Given the description of an element on the screen output the (x, y) to click on. 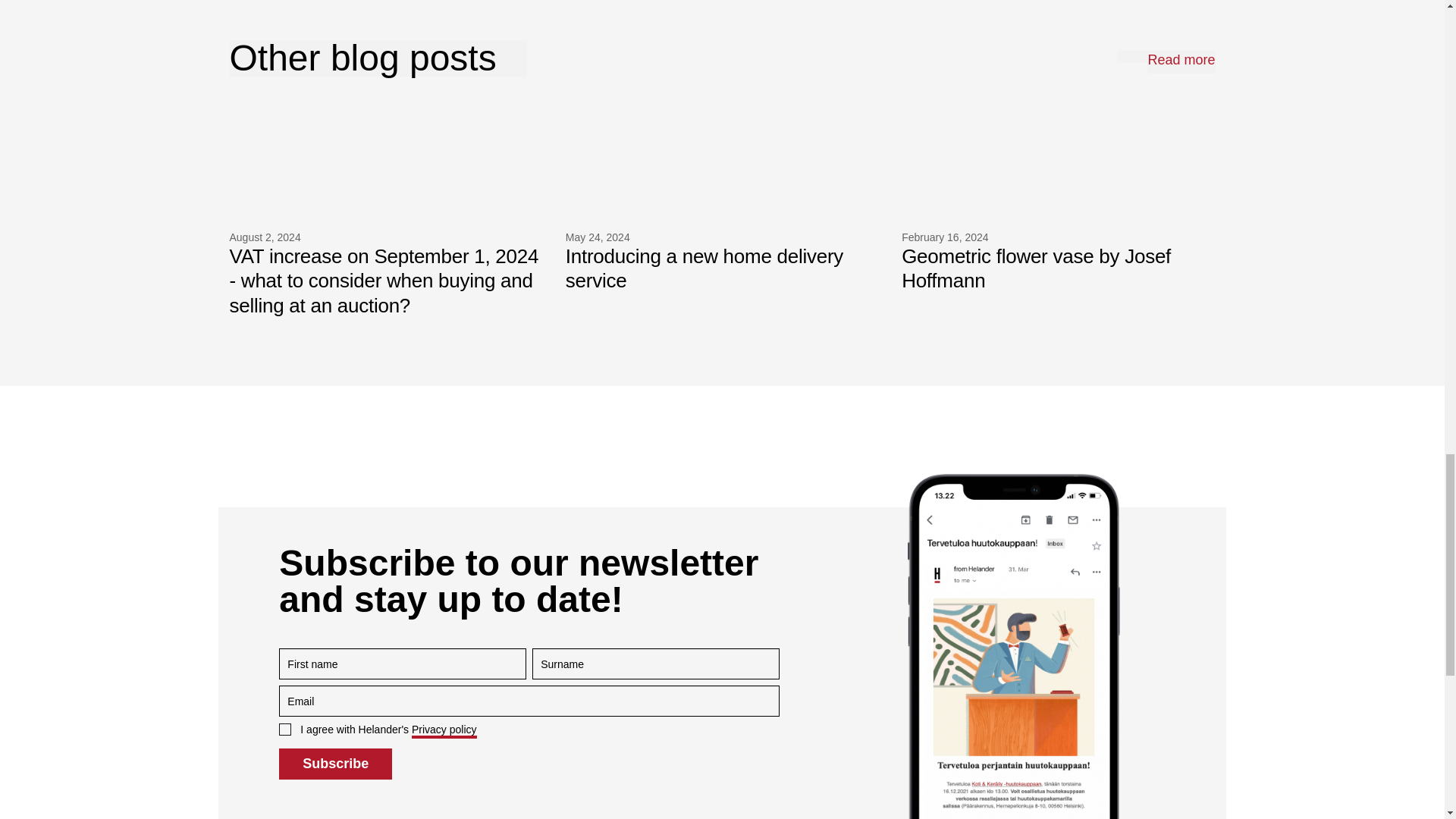
Read more (1180, 61)
Subscribe (1057, 204)
Privacy policy (335, 763)
